Given the description of an element on the screen output the (x, y) to click on. 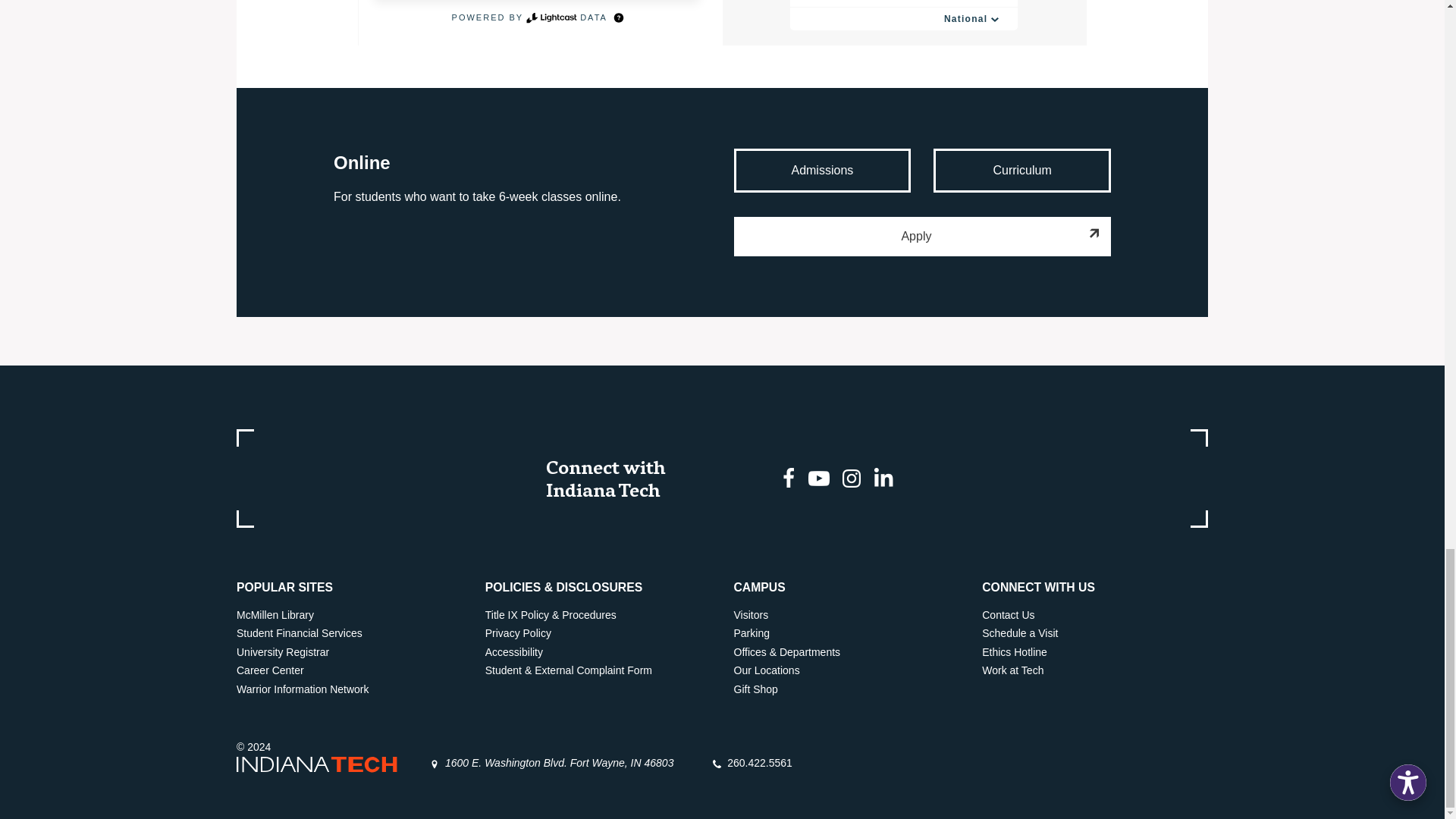
indianatech widget (722, 22)
